Given the description of an element on the screen output the (x, y) to click on. 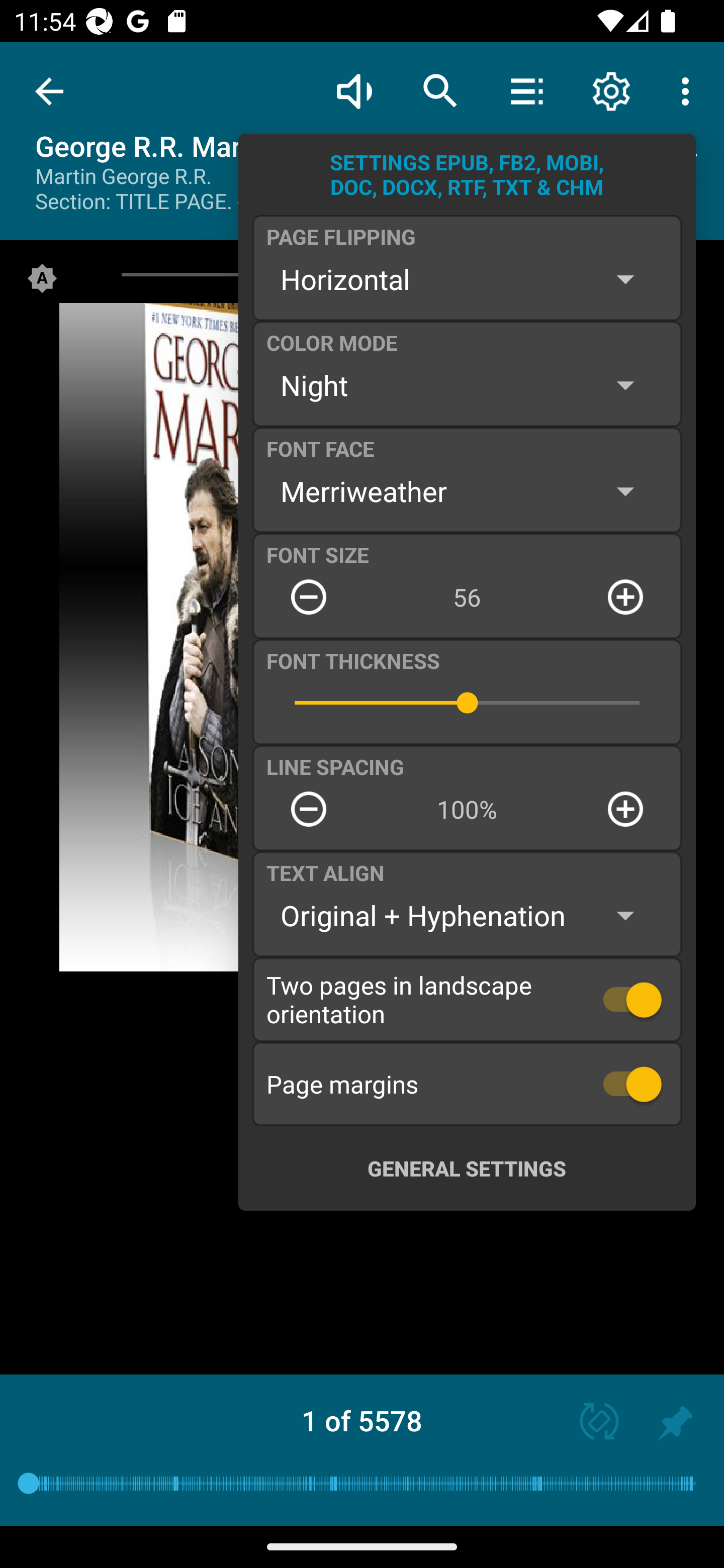
Horizontal (466, 278)
Night (466, 384)
Merriweather (466, 490)
Original + Hyphenation (466, 915)
Two pages in landscape orientation (467, 999)
Page margins (467, 1083)
GENERAL SETTINGS (466, 1167)
